Given the description of an element on the screen output the (x, y) to click on. 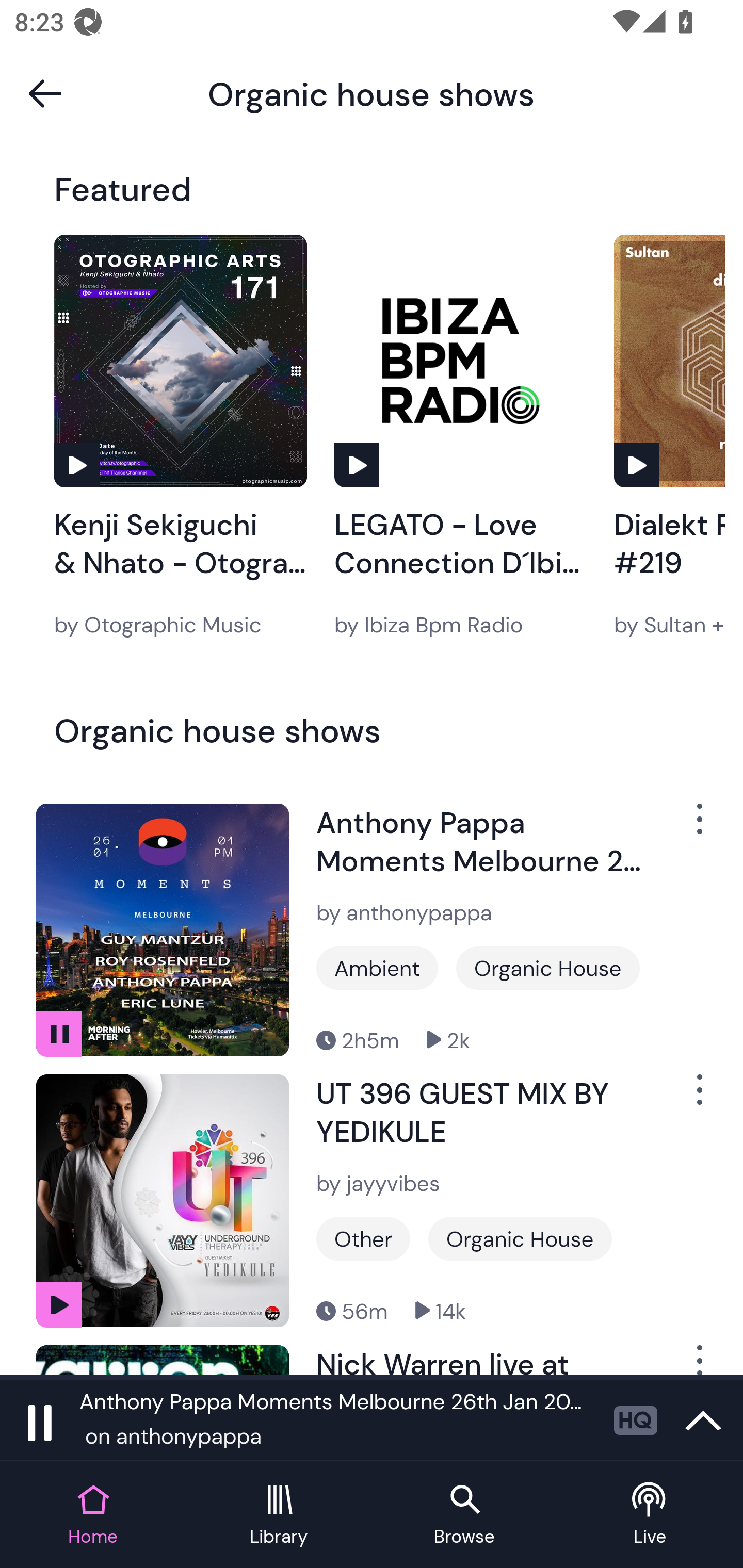
Show Options Menu Button (697, 825)
Ambient (377, 968)
Organic House (547, 968)
Show Options Menu Button (697, 1097)
Other (363, 1238)
Organic House (519, 1238)
Show Options Menu Button (697, 1360)
Home tab Home (92, 1515)
Library tab Library (278, 1515)
Browse tab Browse (464, 1515)
Live tab Live (650, 1515)
